Given the description of an element on the screen output the (x, y) to click on. 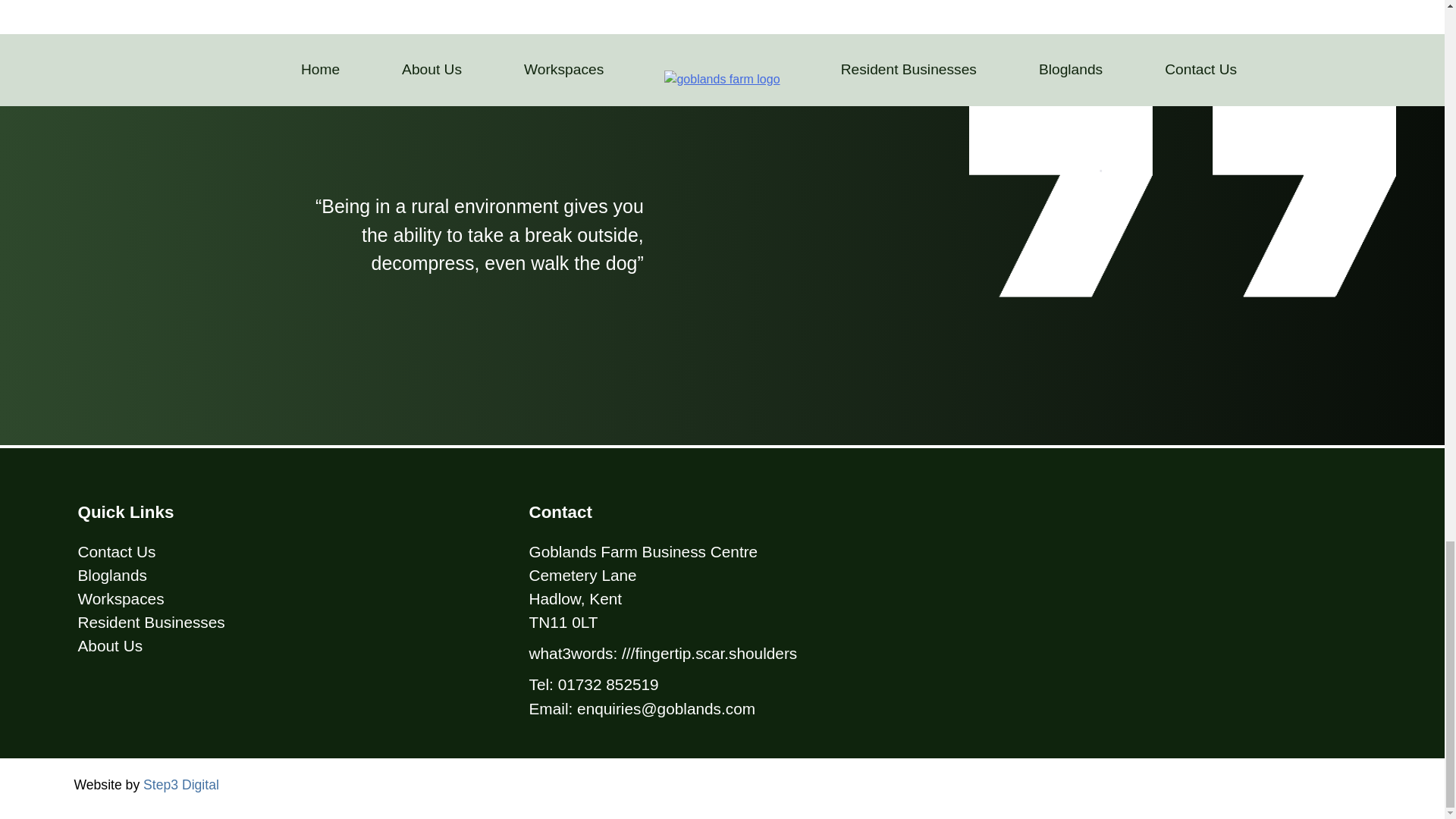
About Us (109, 645)
Resident Businesses (150, 621)
fingertip.scar.shoulders (715, 652)
Step3 Digital (180, 784)
01732 852519 (608, 683)
Contact Us (116, 551)
Bloglands (112, 574)
Workspaces (120, 598)
